Given the description of an element on the screen output the (x, y) to click on. 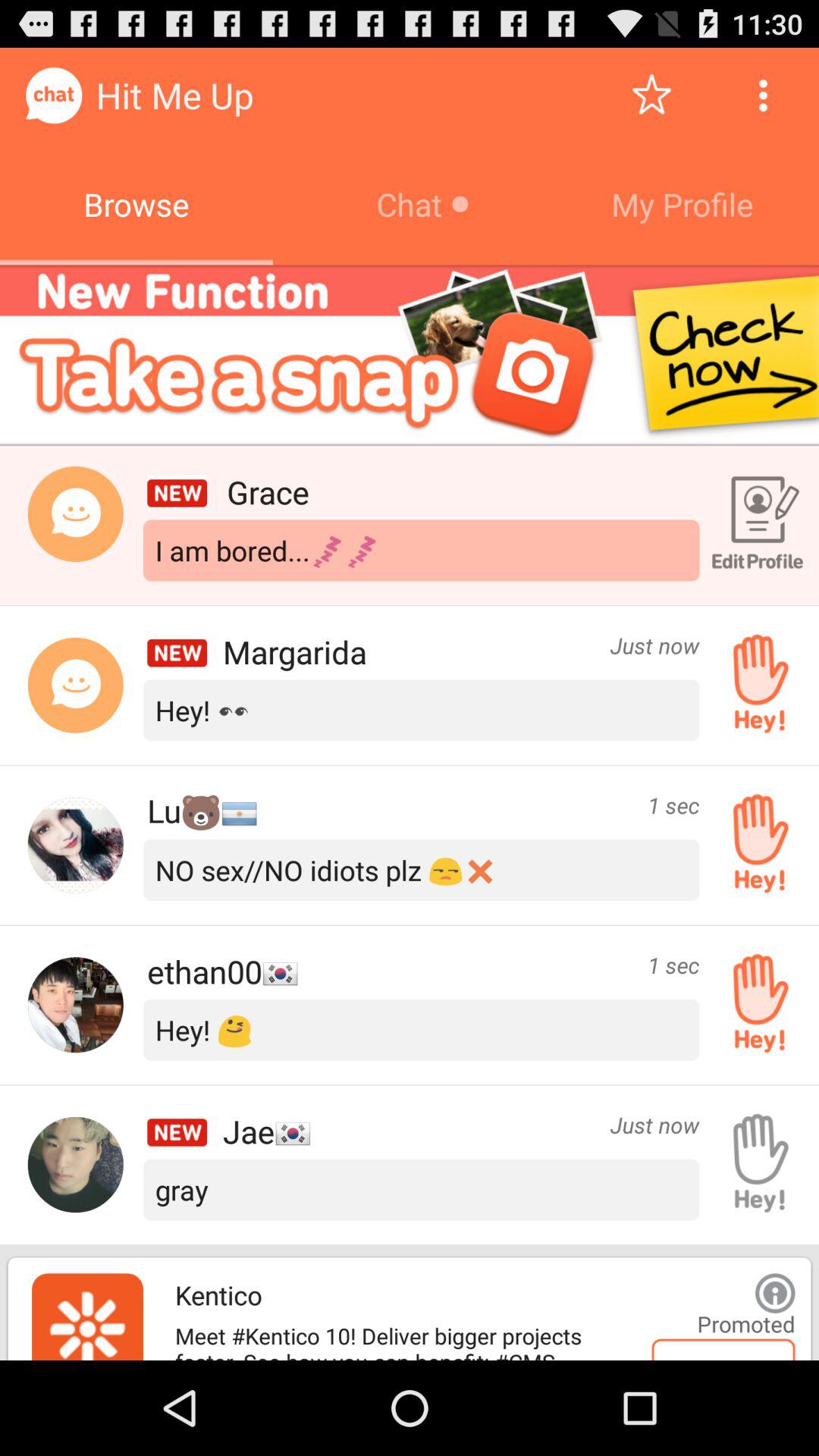
advertisement (87, 1316)
